Given the description of an element on the screen output the (x, y) to click on. 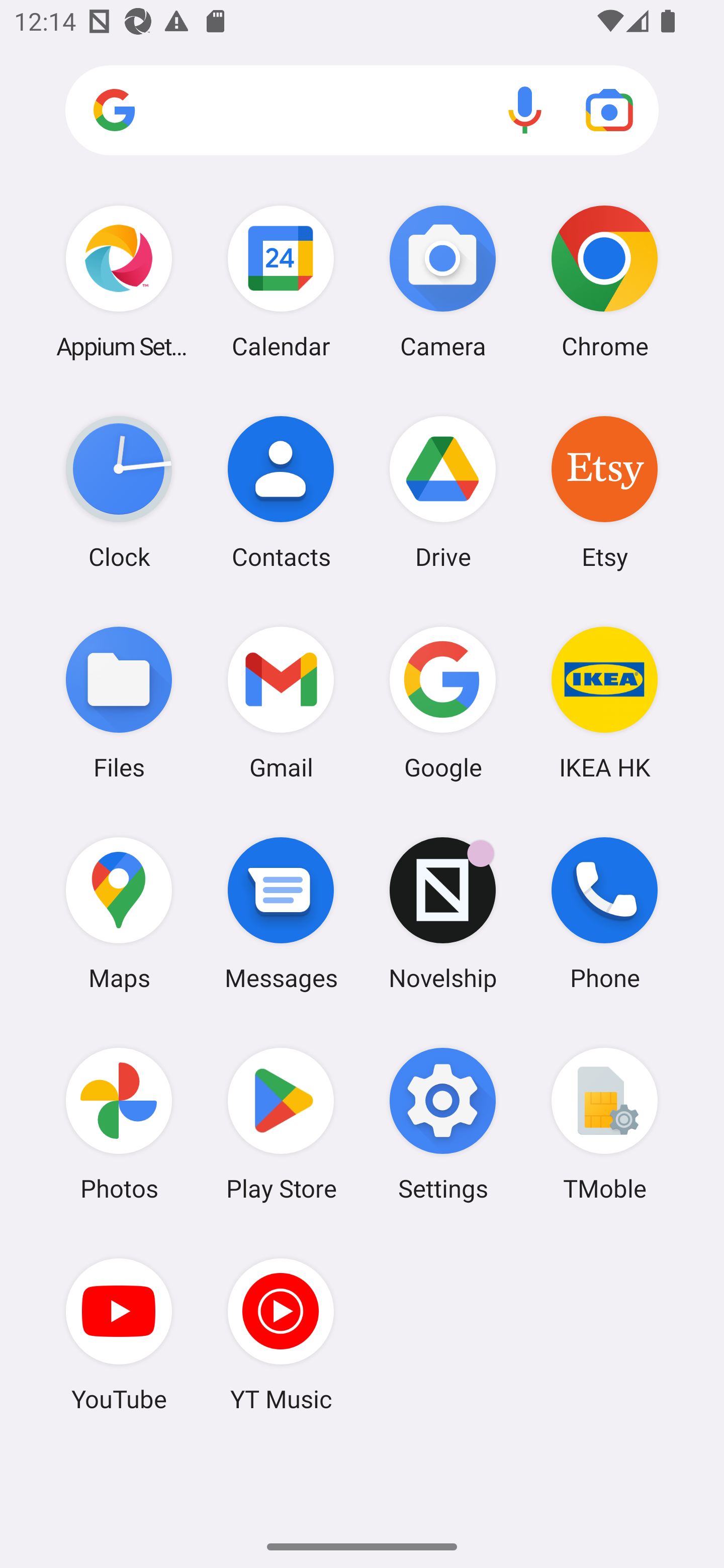
Search apps, web and more (361, 110)
Voice search (524, 109)
Google Lens (608, 109)
Appium Settings (118, 281)
Calendar (280, 281)
Camera (443, 281)
Chrome (604, 281)
Clock (118, 492)
Contacts (280, 492)
Drive (443, 492)
Etsy (604, 492)
Files (118, 702)
Gmail (280, 702)
Google (443, 702)
IKEA HK (604, 702)
Maps (118, 913)
Messages (280, 913)
Novelship Novelship has 6 notifications (443, 913)
Phone (604, 913)
Photos (118, 1124)
Play Store (280, 1124)
Settings (443, 1124)
TMoble (604, 1124)
YouTube (118, 1334)
YT Music (280, 1334)
